Given the description of an element on the screen output the (x, y) to click on. 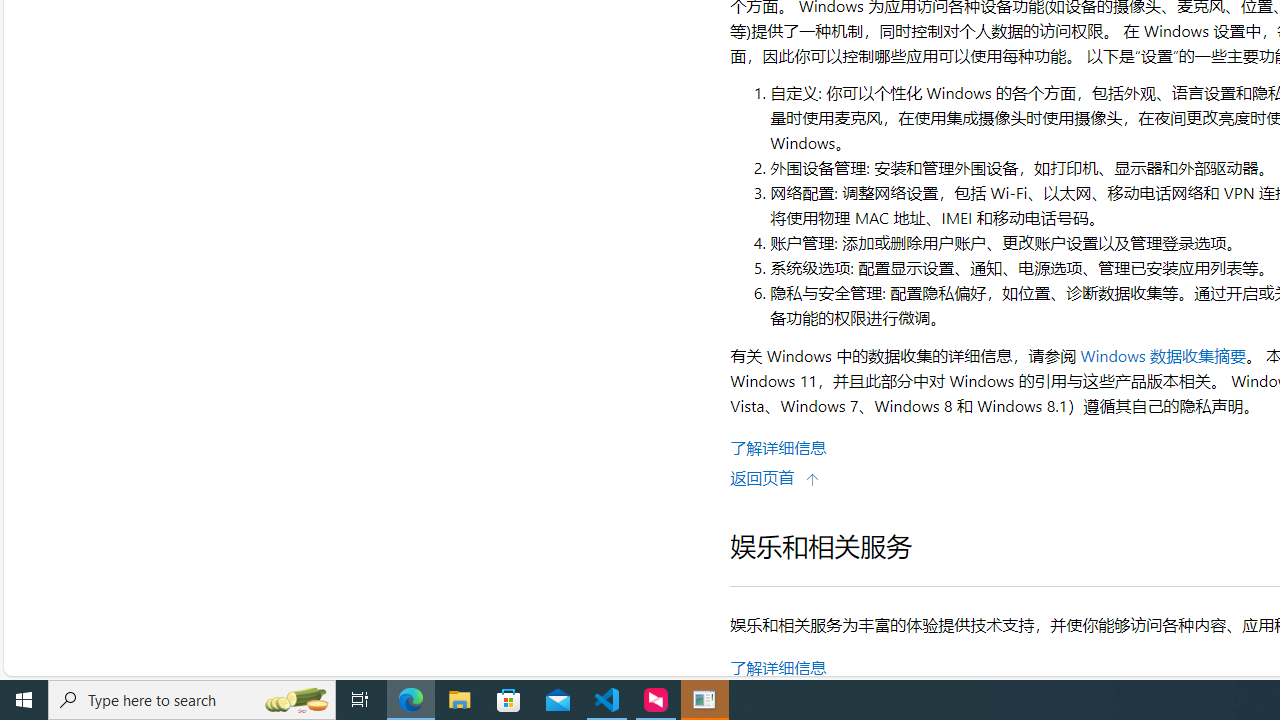
Learn More about Windows (777, 447)
